Given the description of an element on the screen output the (x, y) to click on. 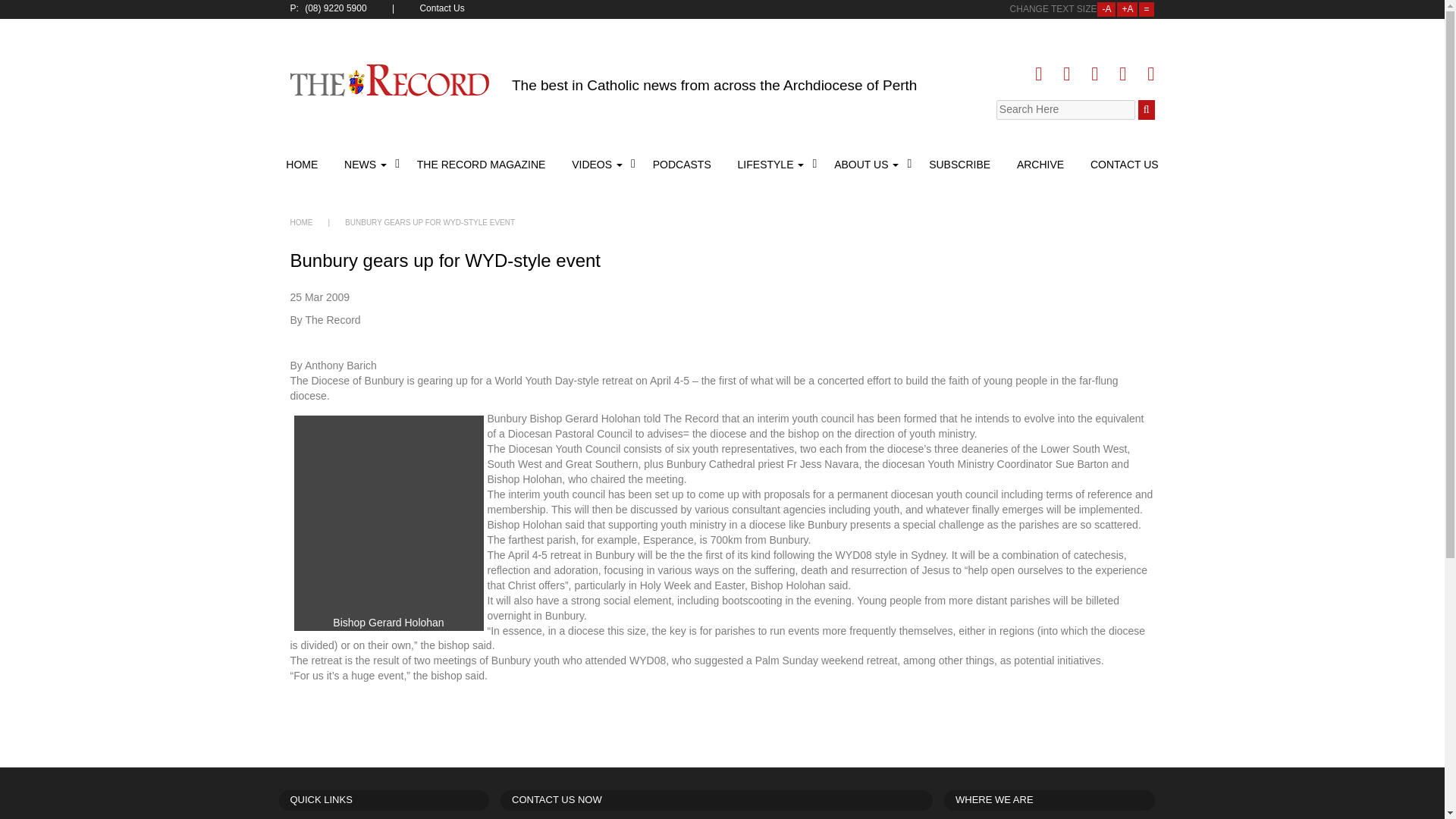
HOME (303, 164)
CONTACT US (1122, 164)
holohan.jpg (388, 515)
Our Youtube page (1122, 74)
THE RECORD MAGAZINE (481, 164)
LIFESTYLE (772, 164)
Contact Us (443, 8)
VIDEOS (598, 164)
HOME (301, 222)
ABOUT US (867, 164)
